Given the description of an element on the screen output the (x, y) to click on. 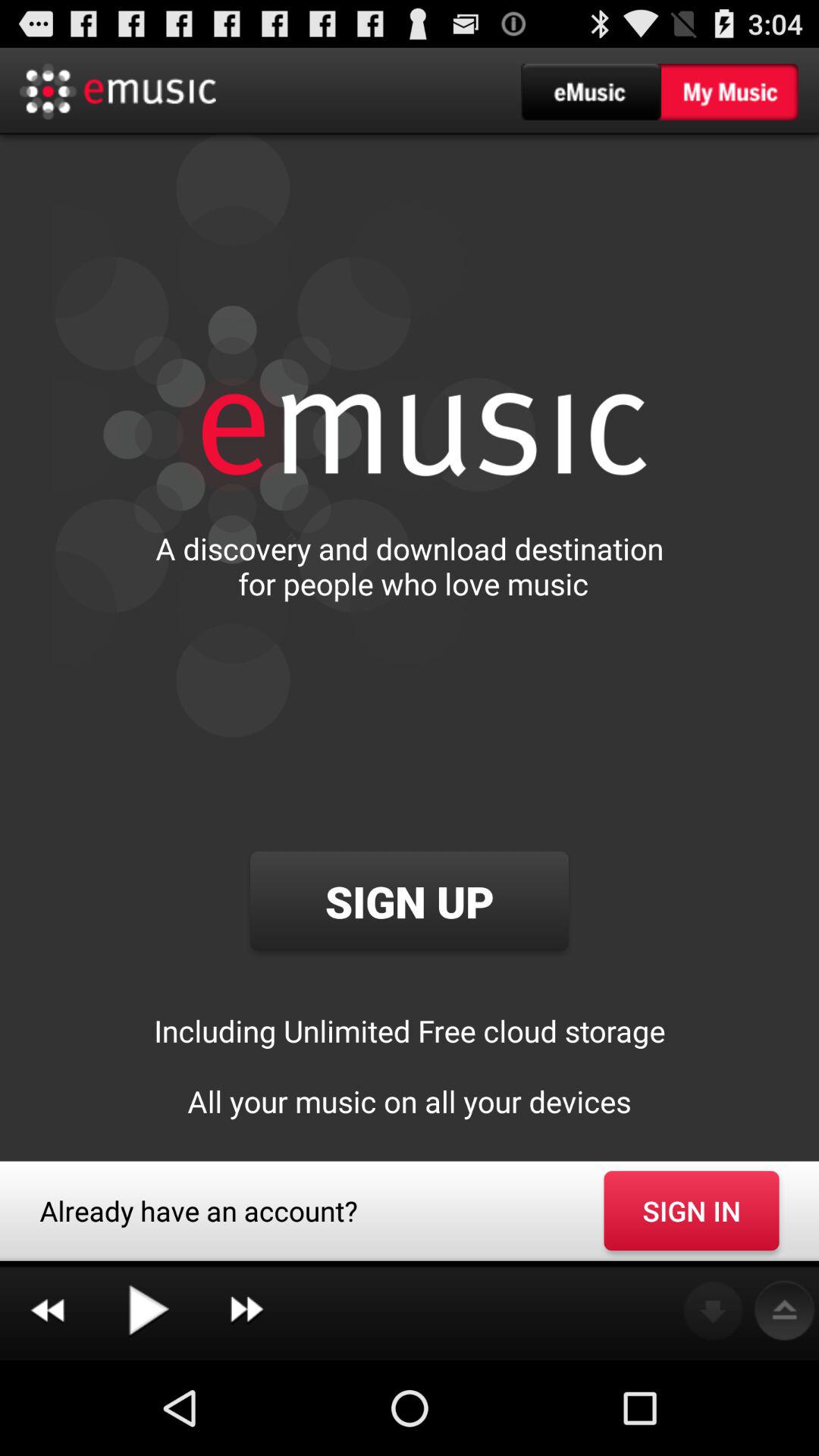
select the icon above the including unlimited free app (409, 900)
